Given the description of an element on the screen output the (x, y) to click on. 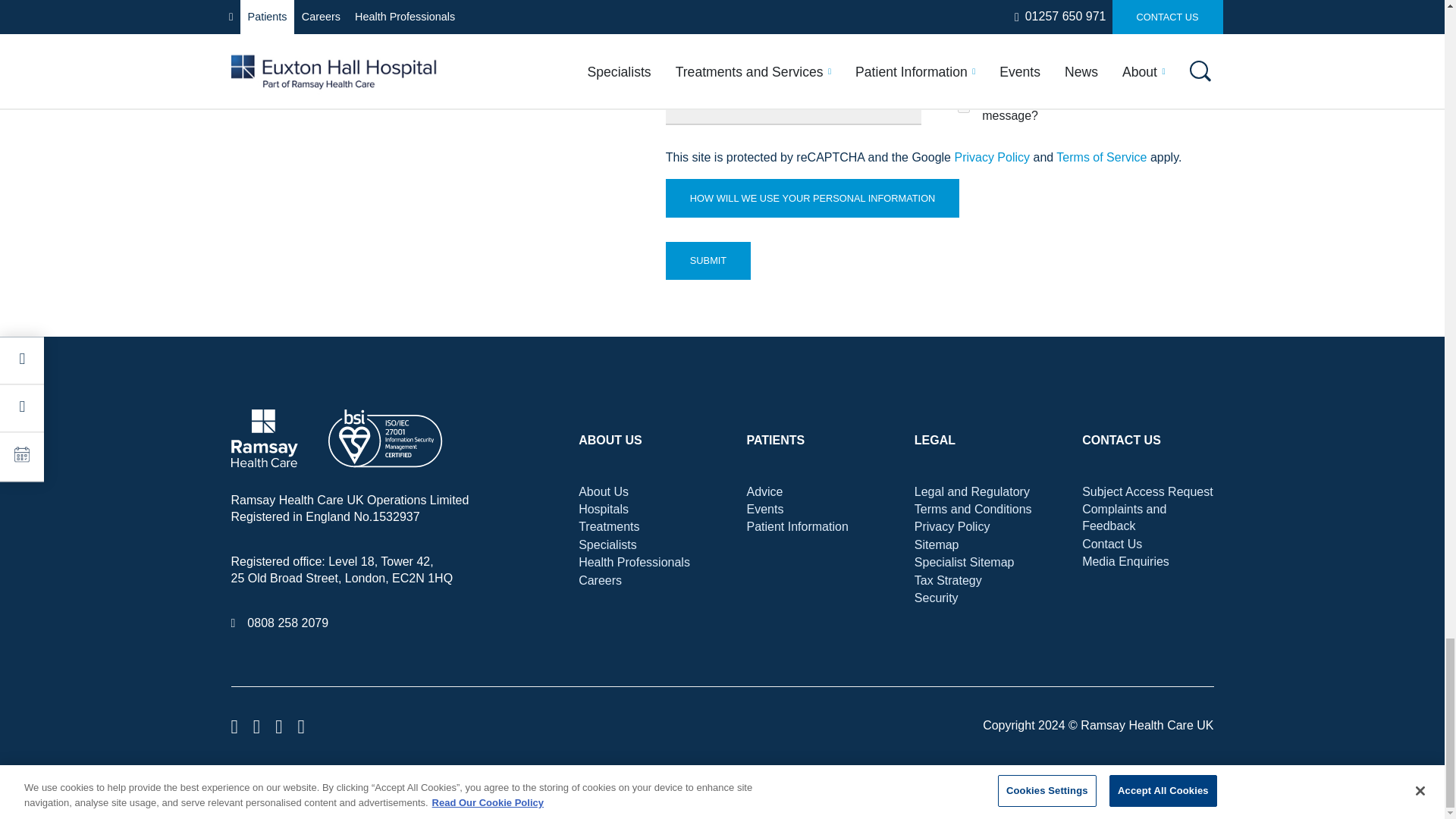
on (963, 106)
Submit (708, 260)
